Given the description of an element on the screen output the (x, y) to click on. 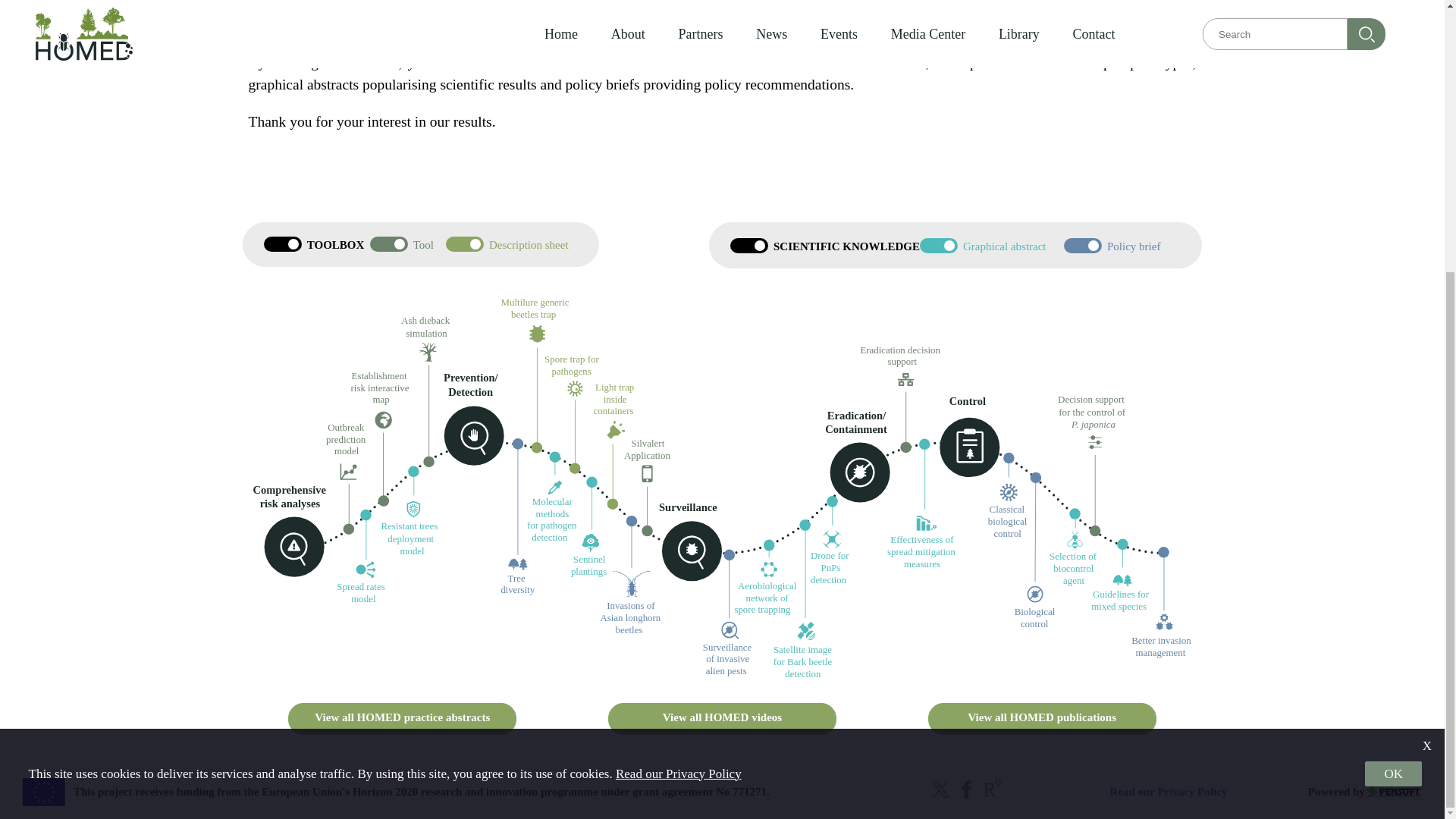
Read our Privacy Policy (678, 373)
Multilure-generic-beatles-trap (537, 321)
Biological-control (1033, 609)
Selection-of-biocontrol-agent (1076, 559)
Pensoft (1394, 792)
Satelite-image-for-detection (807, 650)
Better-invasion-managemet (1161, 637)
Establishment-risk-interactive-map (381, 398)
Silvalert-application (651, 461)
Surveillance (729, 648)
View all HOMED publications (1042, 718)
Aerobiological-network (768, 587)
View all HOMED videos (721, 718)
Ash-dieback-simulation (428, 338)
Decision-support-for-the-control (1094, 422)
